Given the description of an element on the screen output the (x, y) to click on. 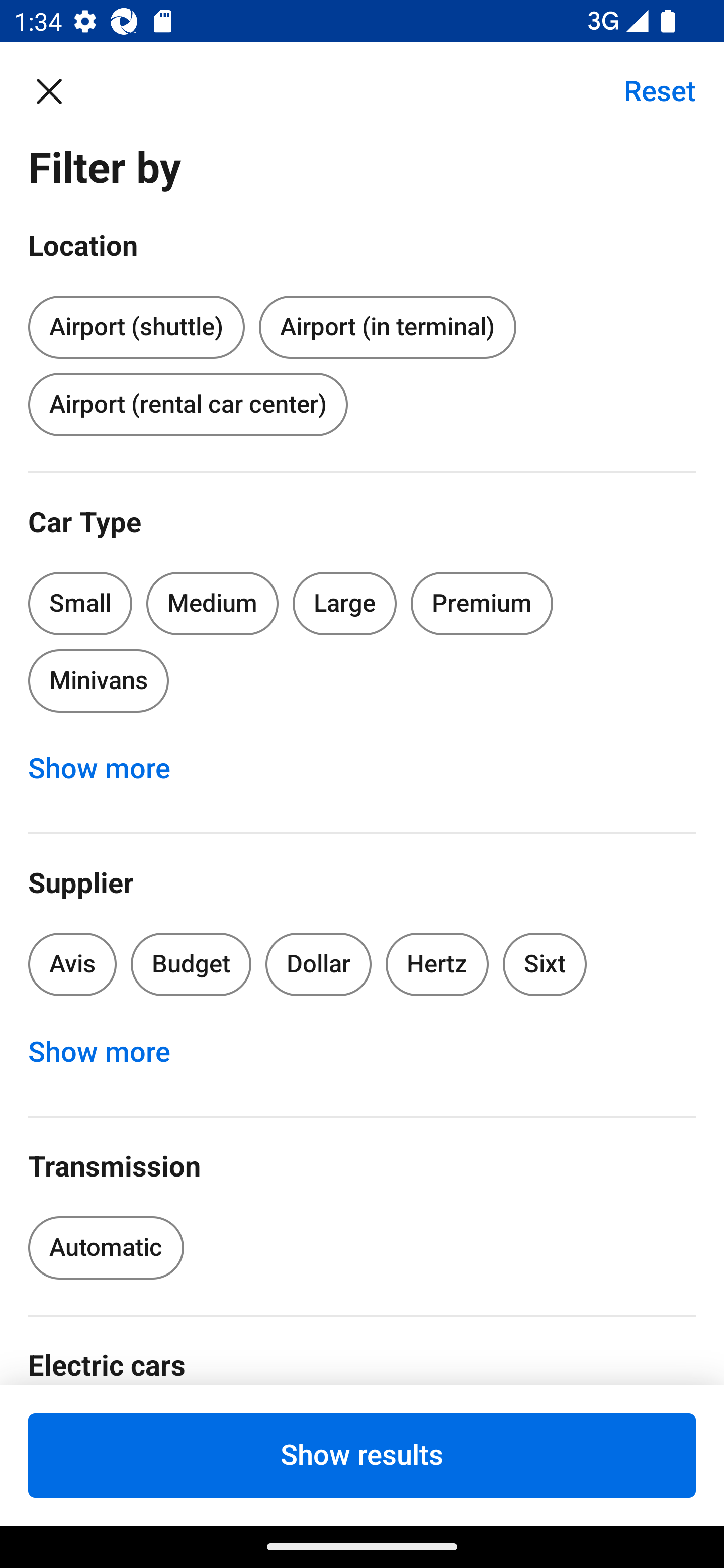
Close (59, 90)
Reset (649, 90)
Airport (shuttle) (136, 323)
Airport (in terminal) (387, 327)
Airport (rental car center) (187, 404)
Small (80, 603)
Medium (212, 603)
Large (344, 603)
Premium (482, 603)
Minivans (98, 680)
Show more (109, 767)
Avis (72, 963)
Budget (191, 963)
Dollar (318, 963)
Hertz (437, 963)
Sixt (544, 963)
Show more (109, 1051)
Automatic (105, 1247)
Show results (361, 1454)
